Given the description of an element on the screen output the (x, y) to click on. 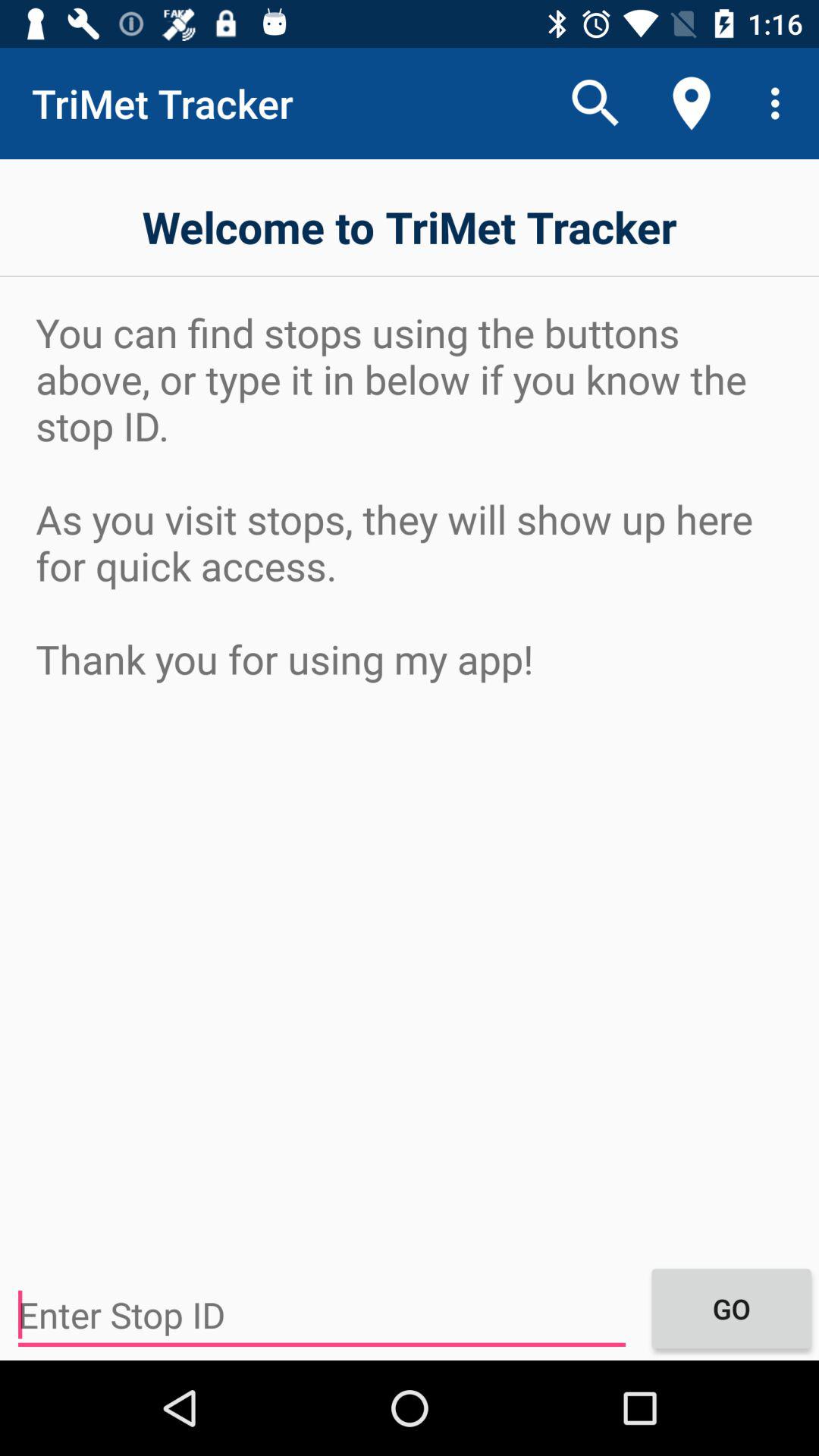
click the icon to the left of the go icon (321, 1315)
